Given the description of an element on the screen output the (x, y) to click on. 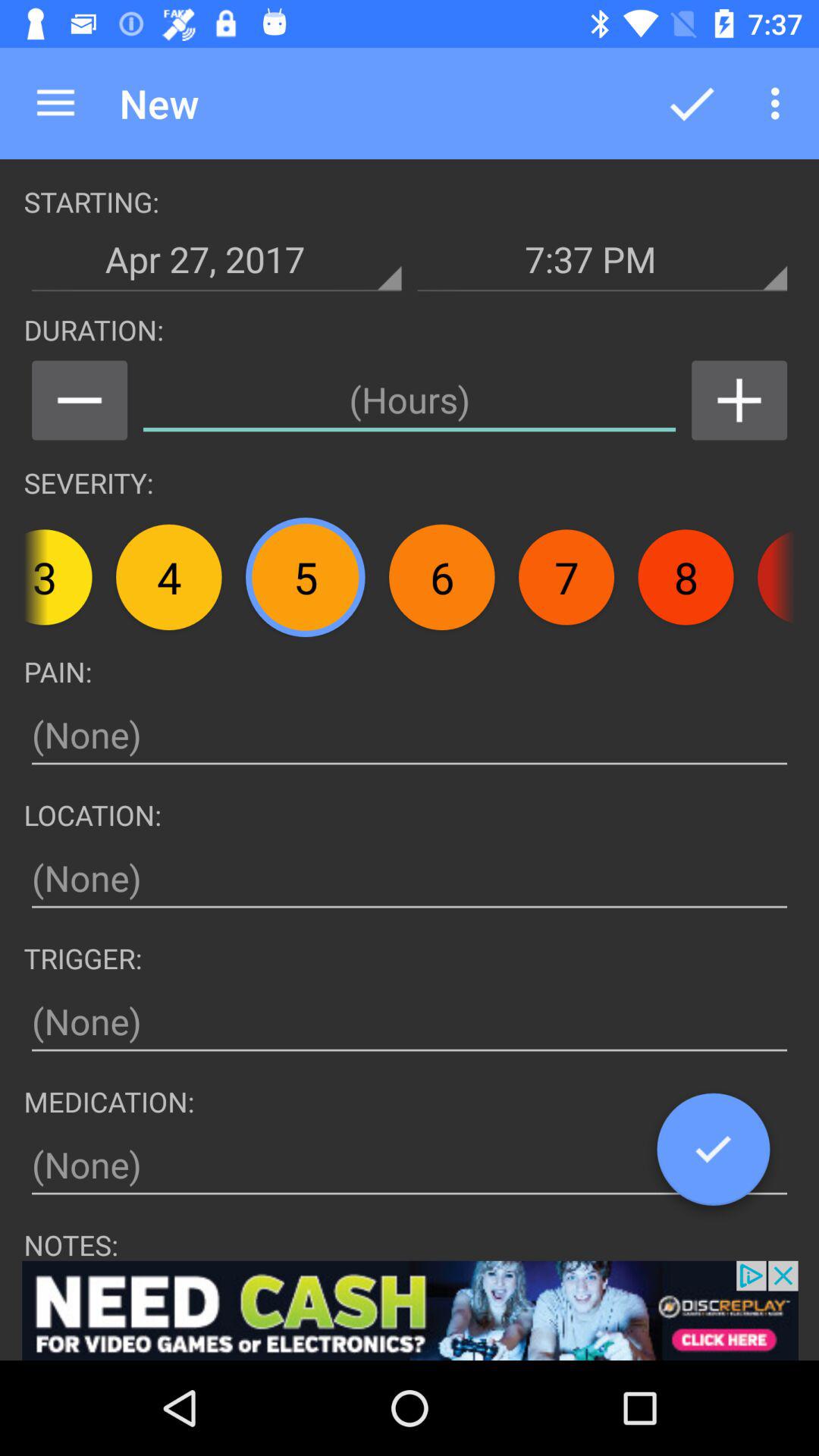
location entry (409, 878)
